Given the description of an element on the screen output the (x, y) to click on. 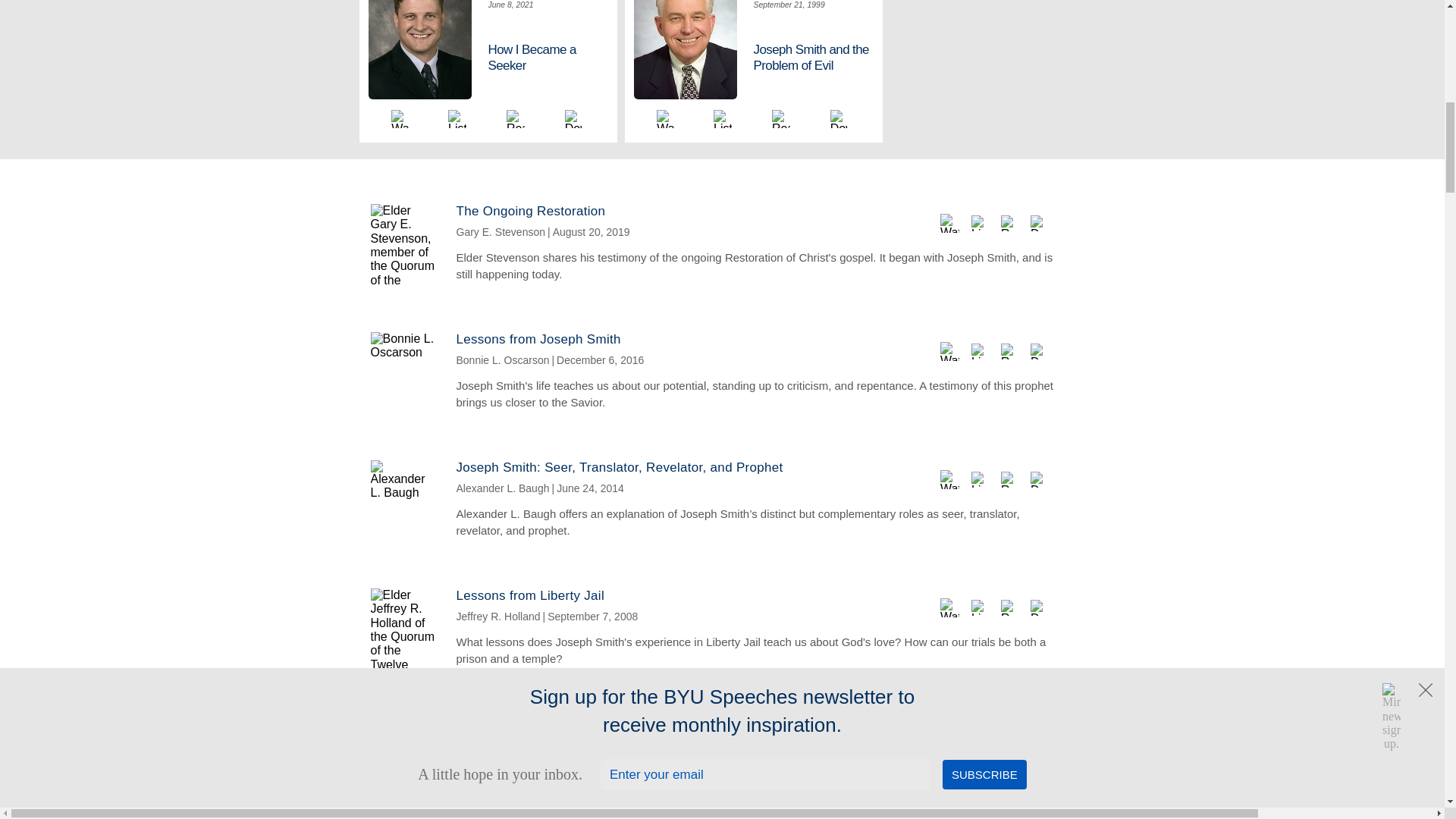
How I Became a Seeker (548, 57)
